Given the description of an element on the screen output the (x, y) to click on. 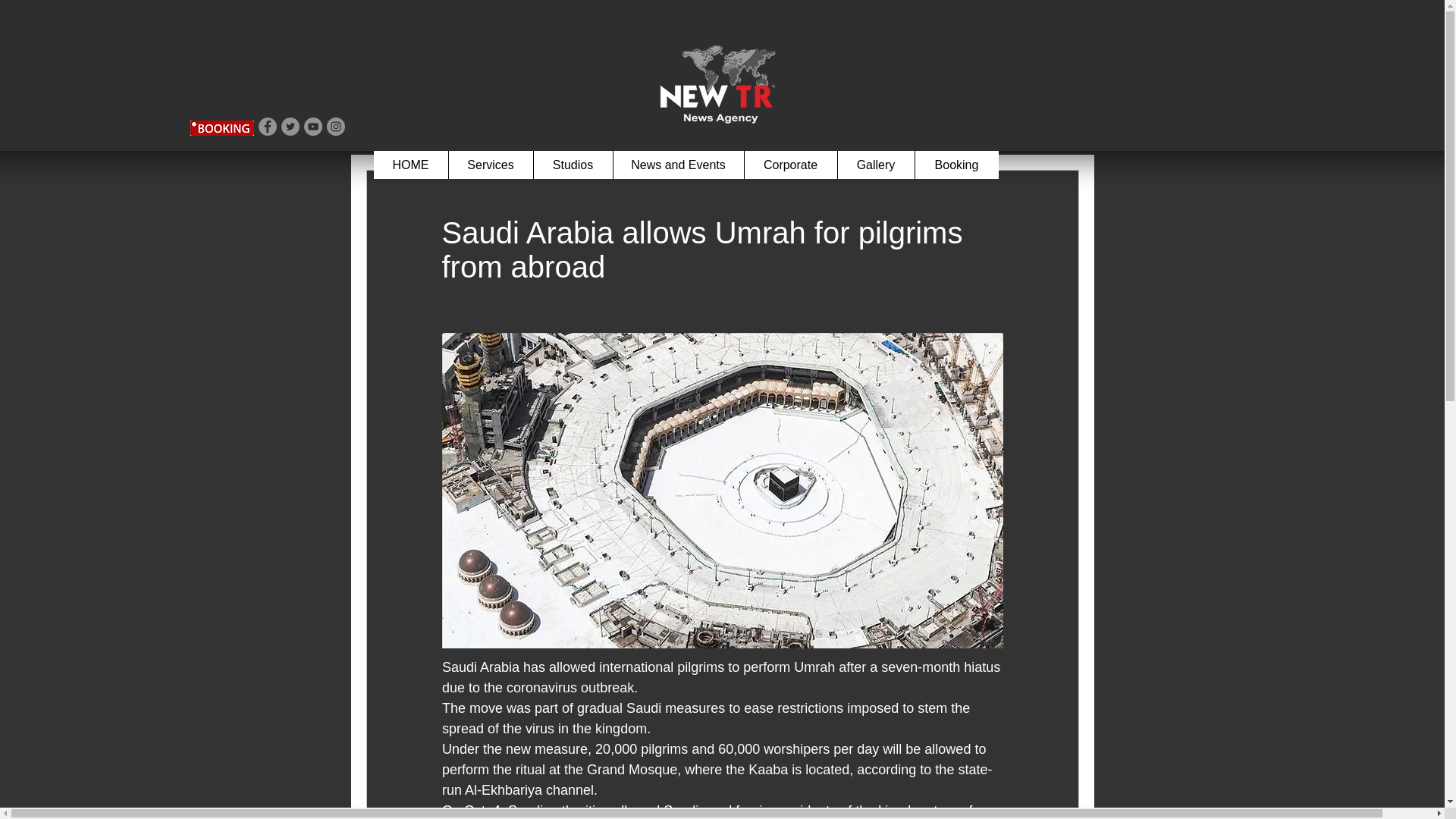
Studios (571, 164)
HOME (409, 164)
Log In (1043, 9)
Services (489, 164)
